Given the description of an element on the screen output the (x, y) to click on. 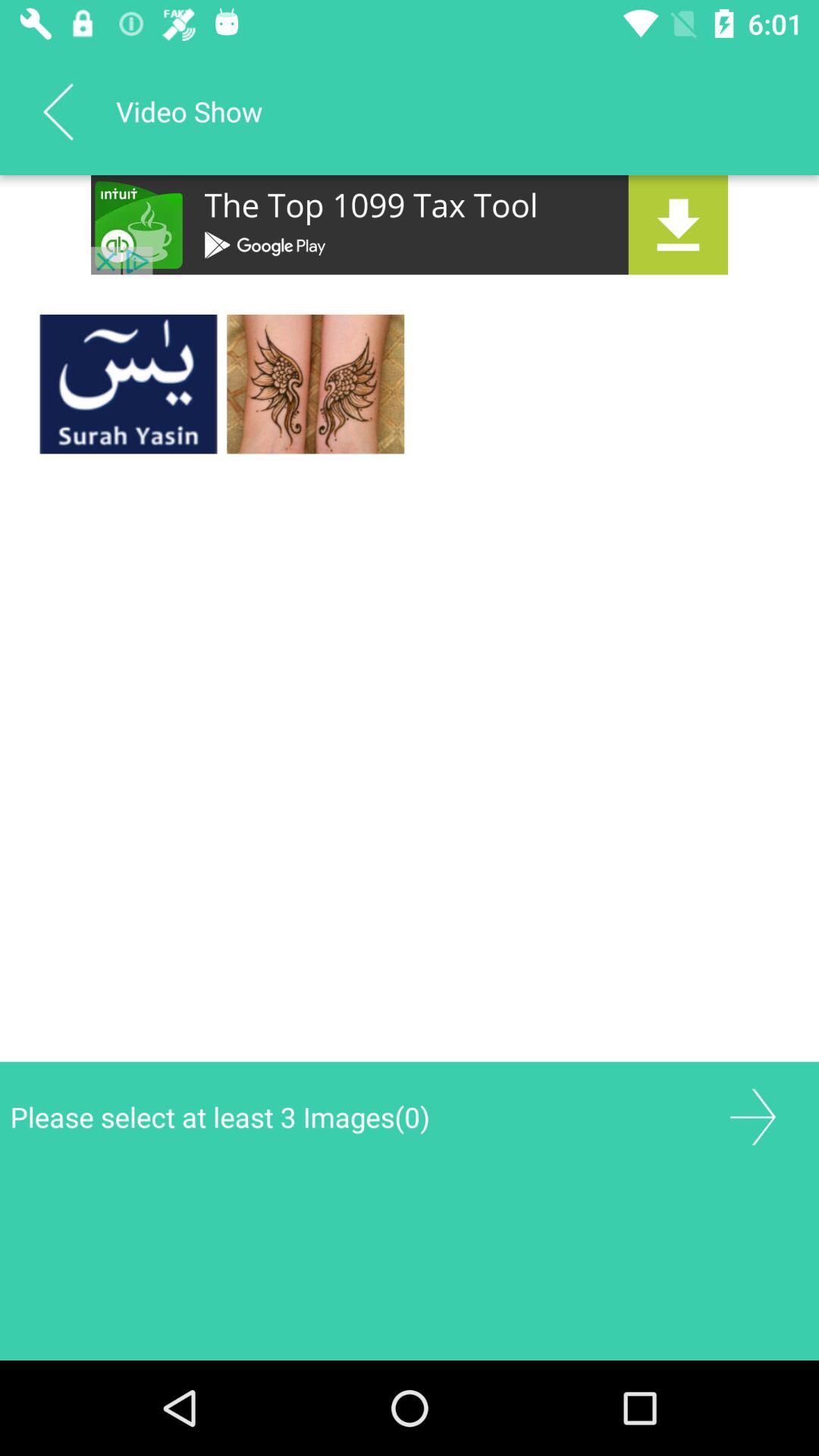
go to the next page (752, 1116)
